Given the description of an element on the screen output the (x, y) to click on. 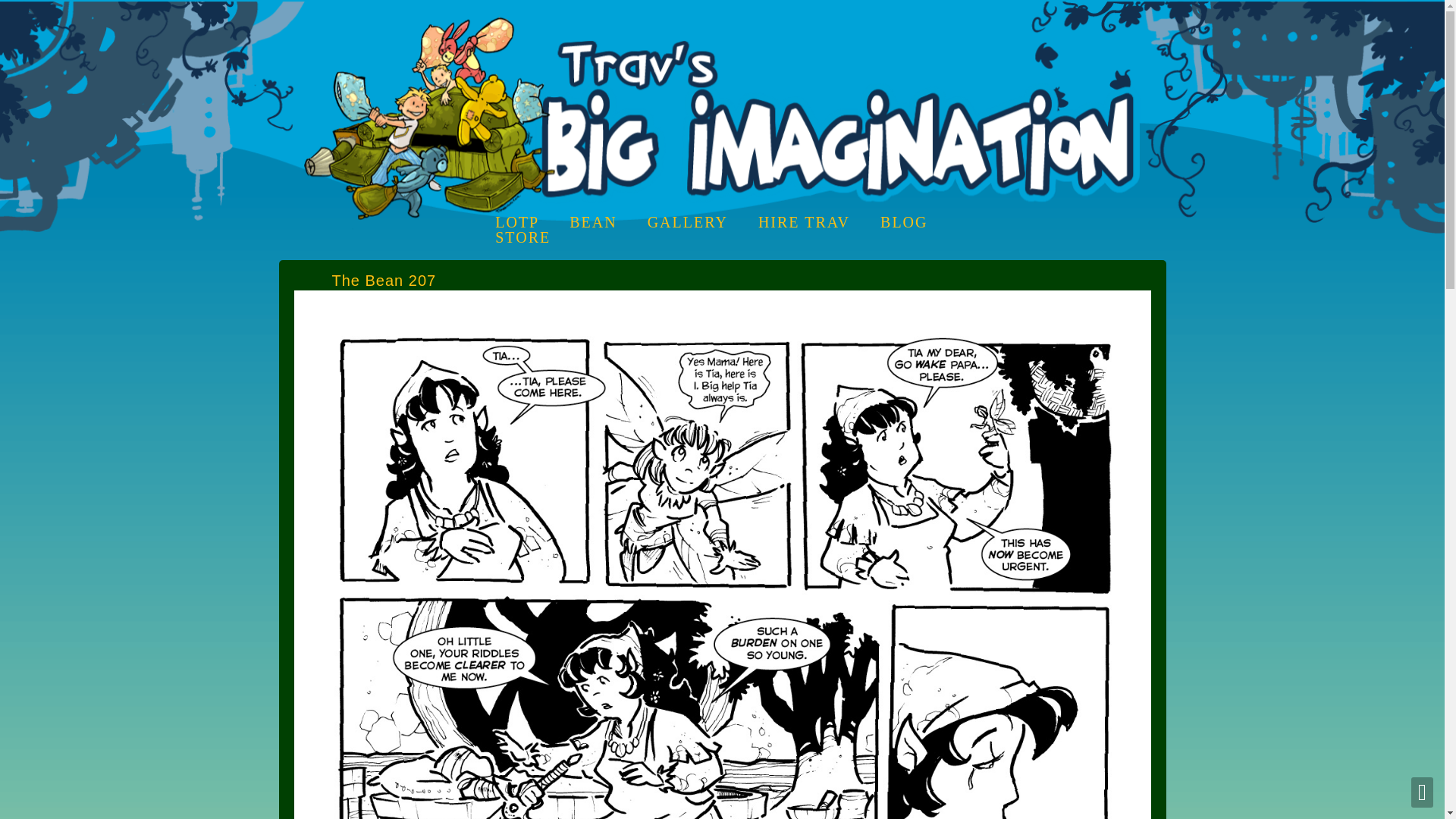
BLOG (903, 221)
LOTP (516, 221)
GALLERY (687, 221)
STORE (522, 236)
HIRE TRAV (804, 221)
BEAN (592, 221)
The Bean 207 (722, 297)
